Given the description of an element on the screen output the (x, y) to click on. 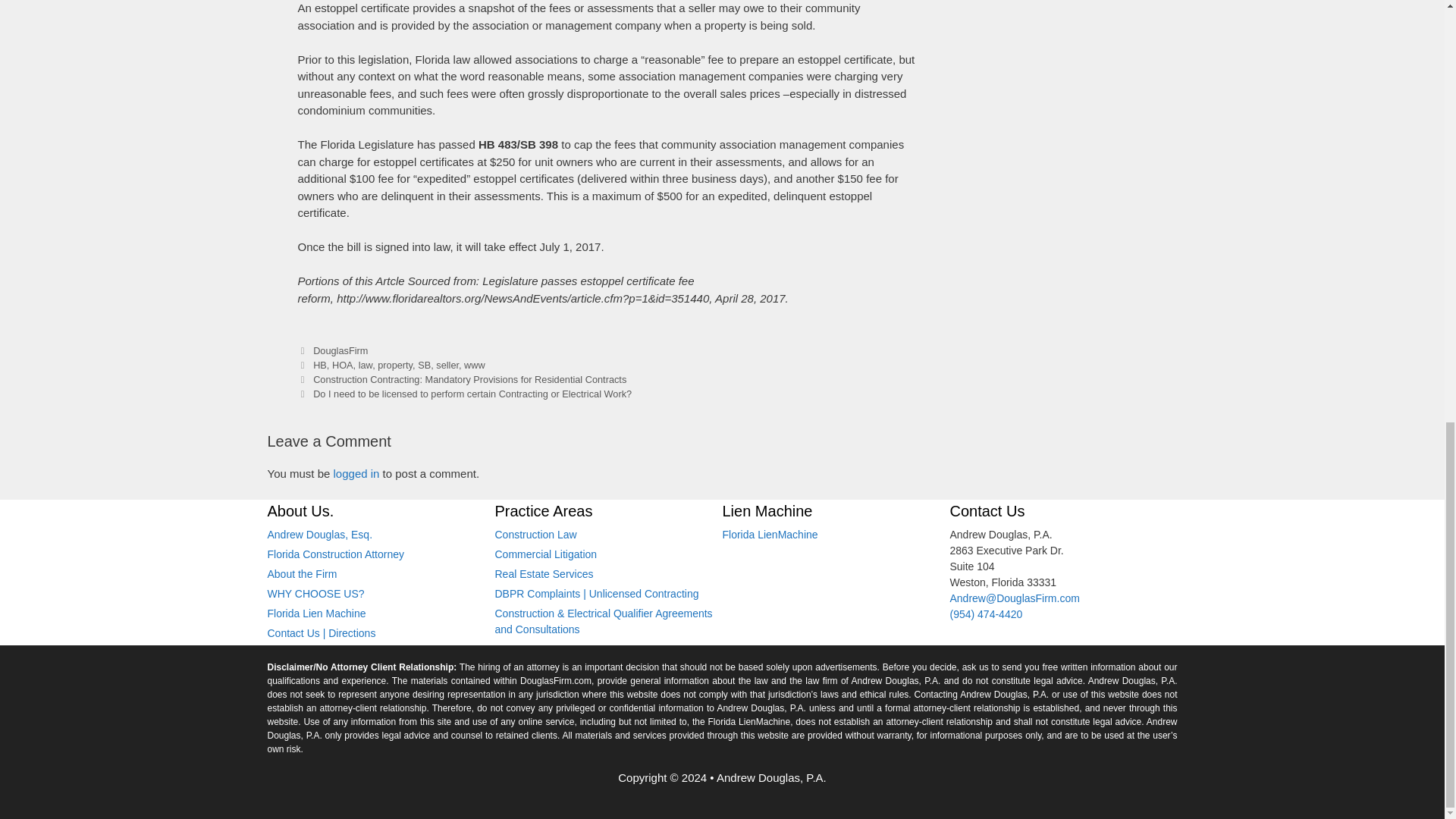
DouglasFirm (340, 350)
Florida Construction Attorney (335, 553)
law (365, 365)
property (394, 365)
HOA (342, 365)
SB (423, 365)
seller (446, 365)
HB (319, 365)
Florida Construction Attorney (319, 534)
Florida Construction Attorney (535, 534)
